Given the description of an element on the screen output the (x, y) to click on. 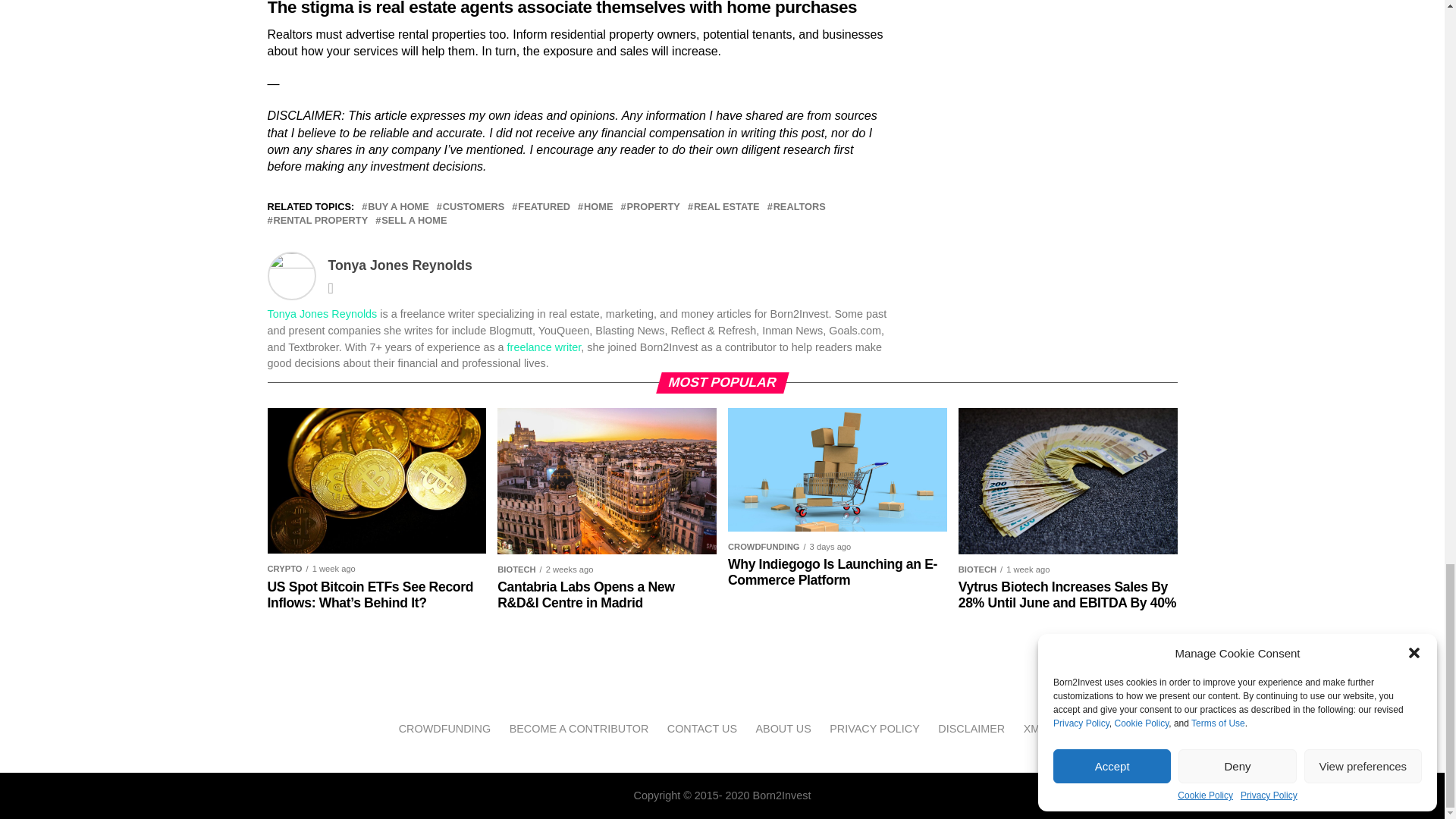
Posts by Tonya Jones Reynolds (399, 264)
